Given the description of an element on the screen output the (x, y) to click on. 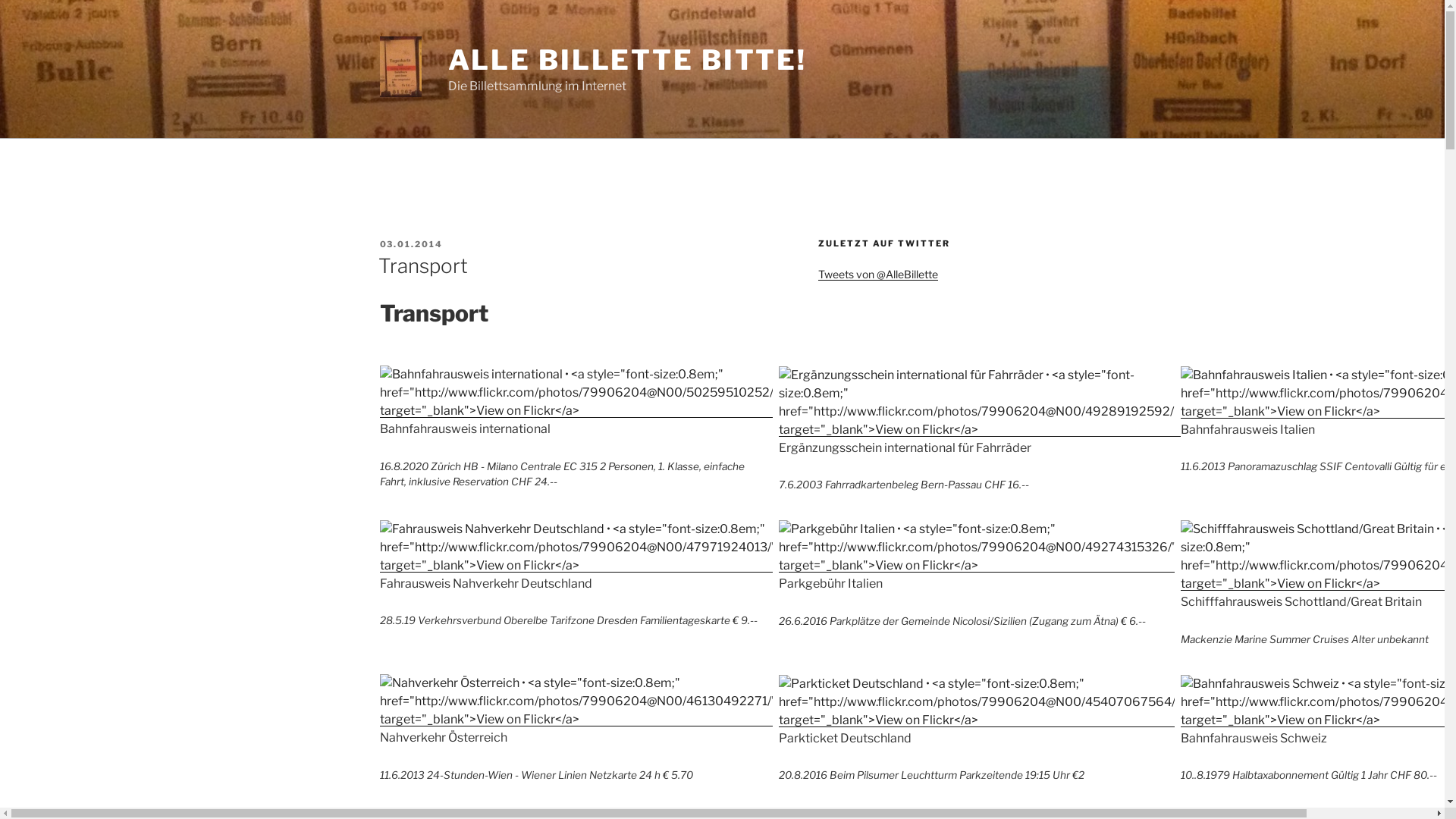
Transport Element type: text (422, 265)
Parkticket Deutschland Element type: hover (978, 719)
Fahrausweis Nahverkehr Deutschland Element type: hover (578, 565)
Bahnfahrausweis international Element type: hover (578, 410)
Tweets von @AlleBillette Element type: text (878, 273)
Bahnfahrausweis international Element type: hover (578, 392)
Parkticket Deutschland Element type: hover (978, 701)
Fahrausweis Nahverkehr Deutschland Element type: hover (578, 547)
ALLE BILLETTE BITTE! Element type: text (627, 59)
03.01.2014 Element type: text (410, 243)
